Given the description of an element on the screen output the (x, y) to click on. 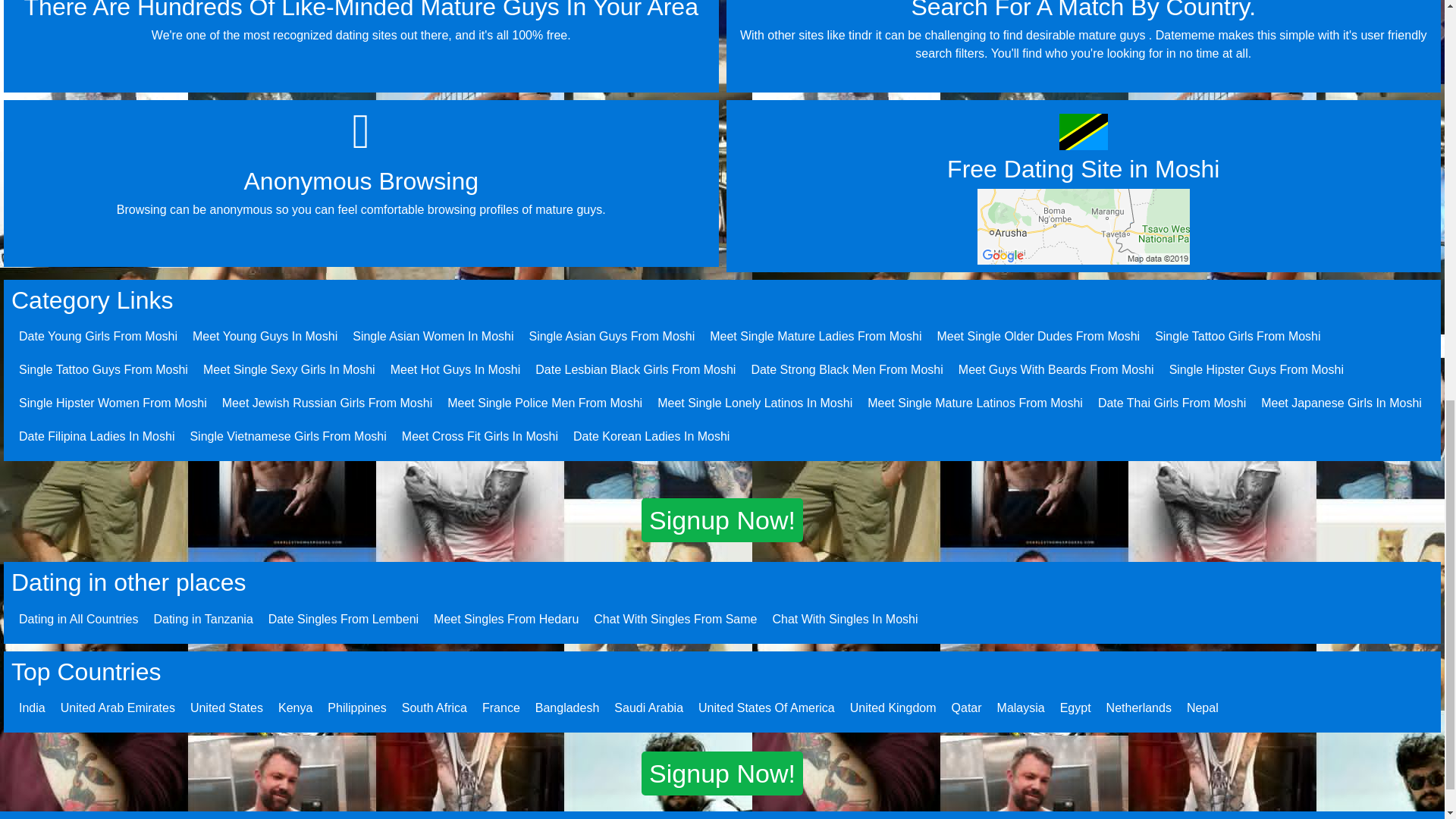
Single Asian Guys From Moshi (611, 336)
Meet Young Guys In Moshi (264, 336)
Single Asian Women In Moshi (432, 336)
Date Young Girls From Moshi (97, 336)
